Given the description of an element on the screen output the (x, y) to click on. 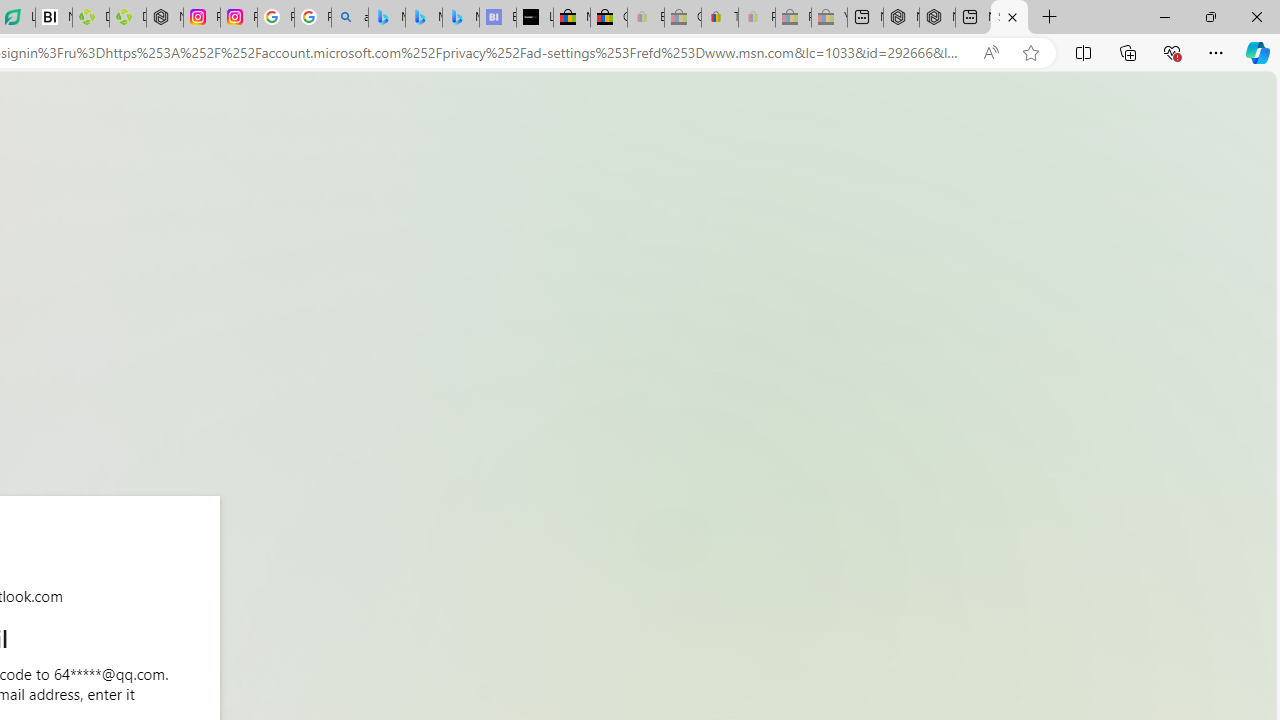
Nordace - Nordace Edin Collection (165, 17)
Yard, Garden & Outdoor Living - Sleeping (829, 17)
